Given the description of an element on the screen output the (x, y) to click on. 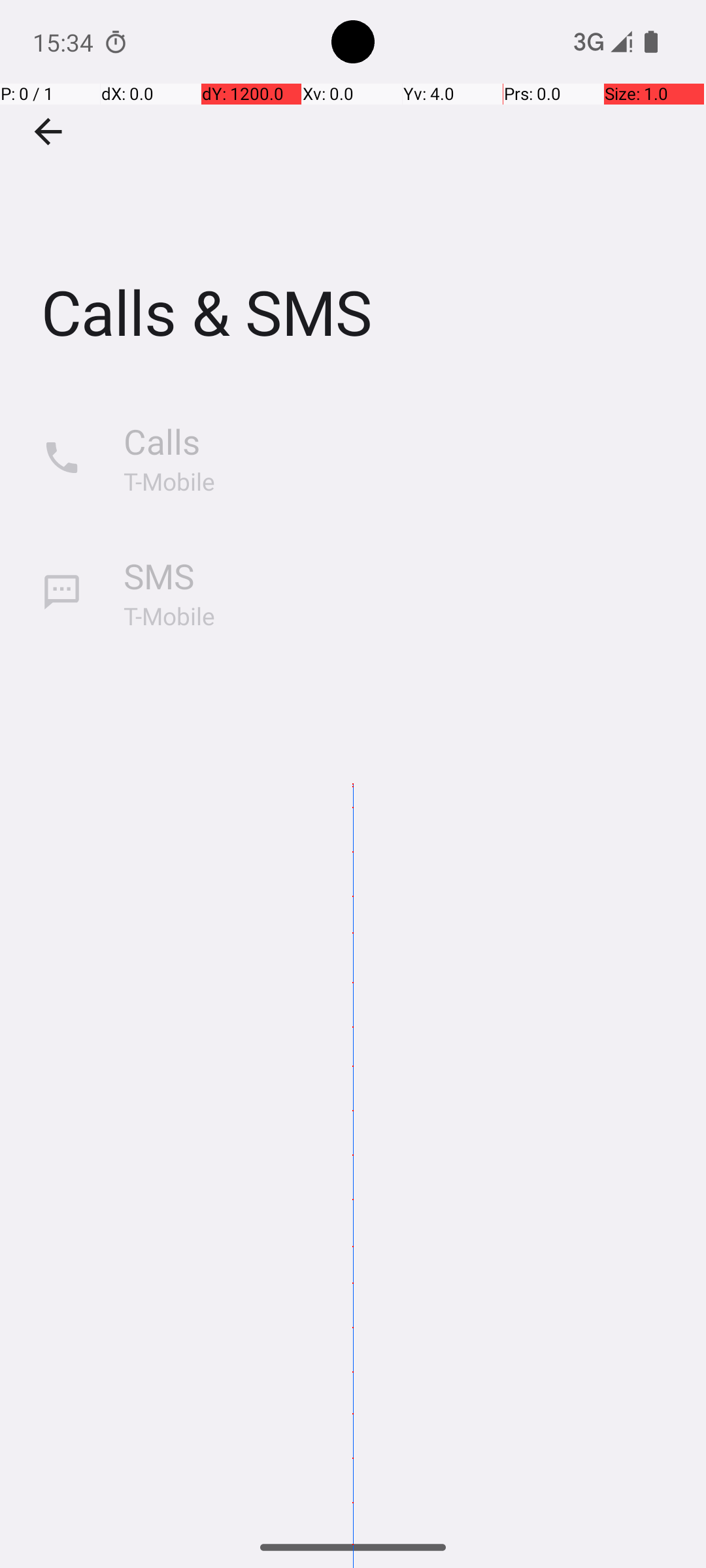
Calls Element type: android.widget.TextView (161, 441)
